Given the description of an element on the screen output the (x, y) to click on. 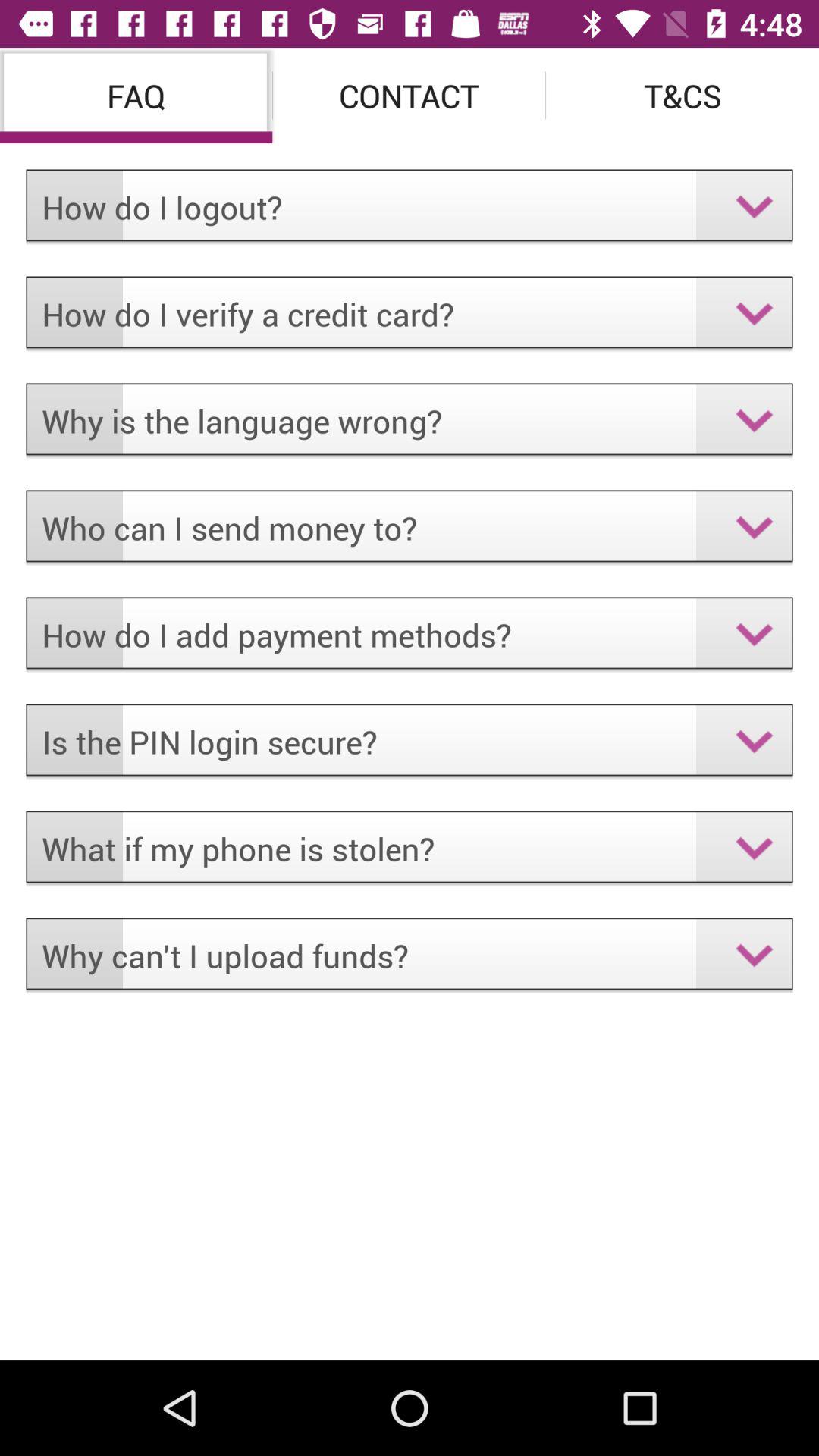
open the item next to the faq (409, 95)
